Given the description of an element on the screen output the (x, y) to click on. 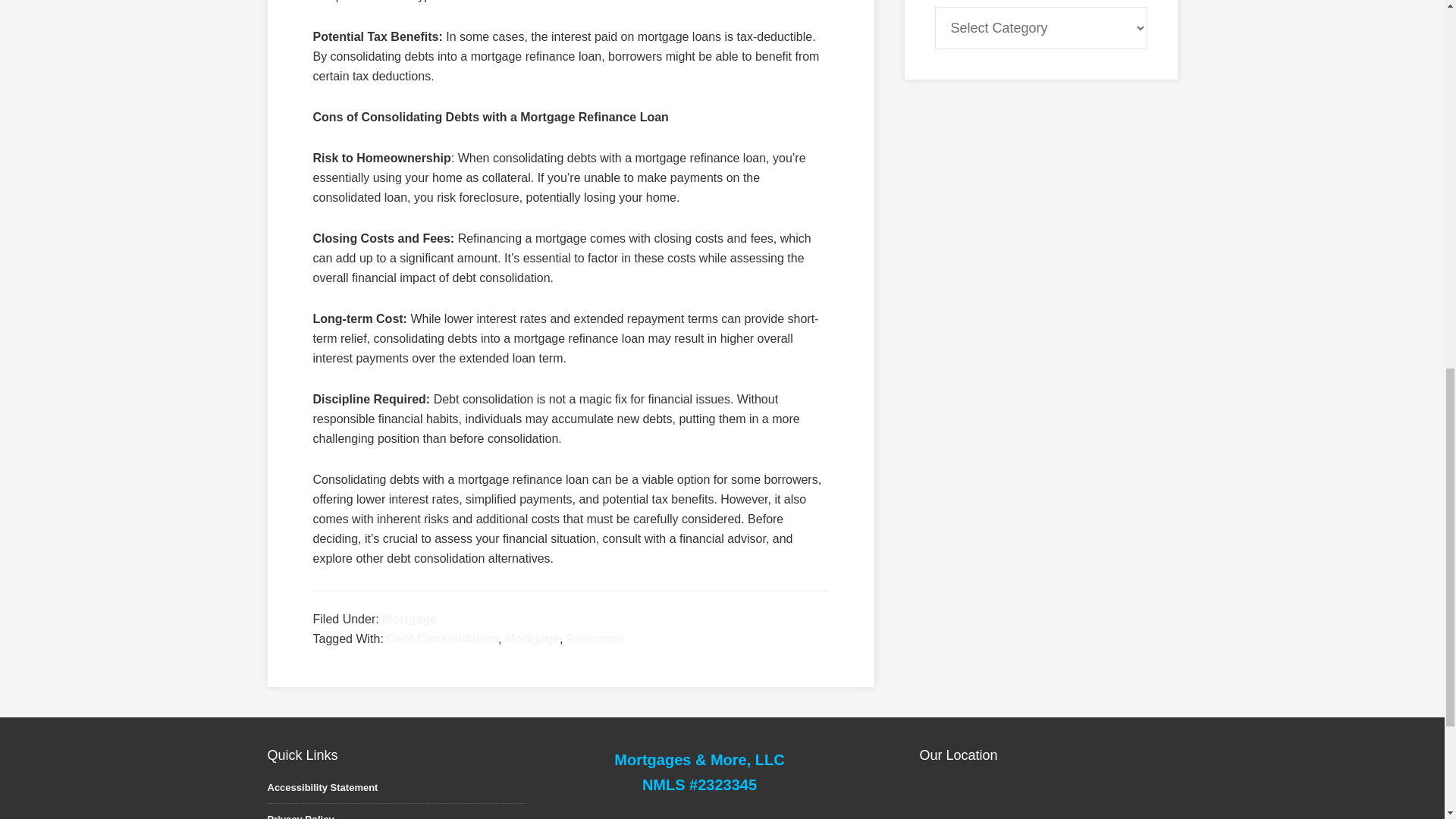
Accessibility Statement (321, 787)
Privacy Policy (299, 816)
Mortgage (408, 618)
Refinance (595, 638)
Debt Consolidation (442, 638)
Mortgage (532, 638)
